Given the description of an element on the screen output the (x, y) to click on. 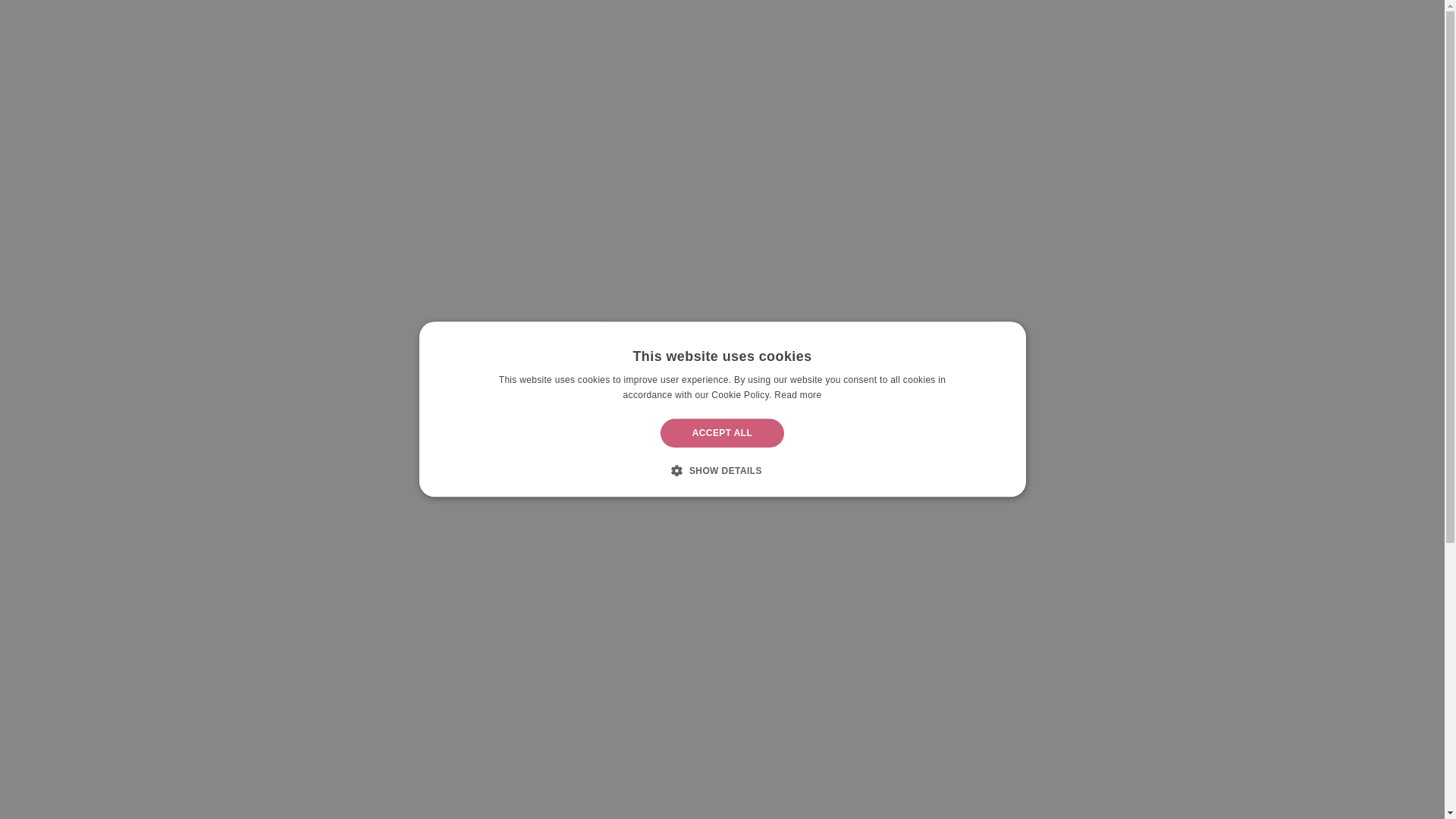
ABOUT US (828, 28)
CUSTOMIZE (711, 28)
Home (457, 28)
MORE REVIEWS (721, 741)
more reviews (721, 741)
Customize (711, 28)
About Us (828, 28)
Blog (772, 28)
TAPESTRIES (521, 28)
BLOG (772, 28)
HOME (457, 28)
Tapestries (521, 28)
Home (352, 28)
Tweet (1149, 102)
Read more (797, 394)
